Given the description of an element on the screen output the (x, y) to click on. 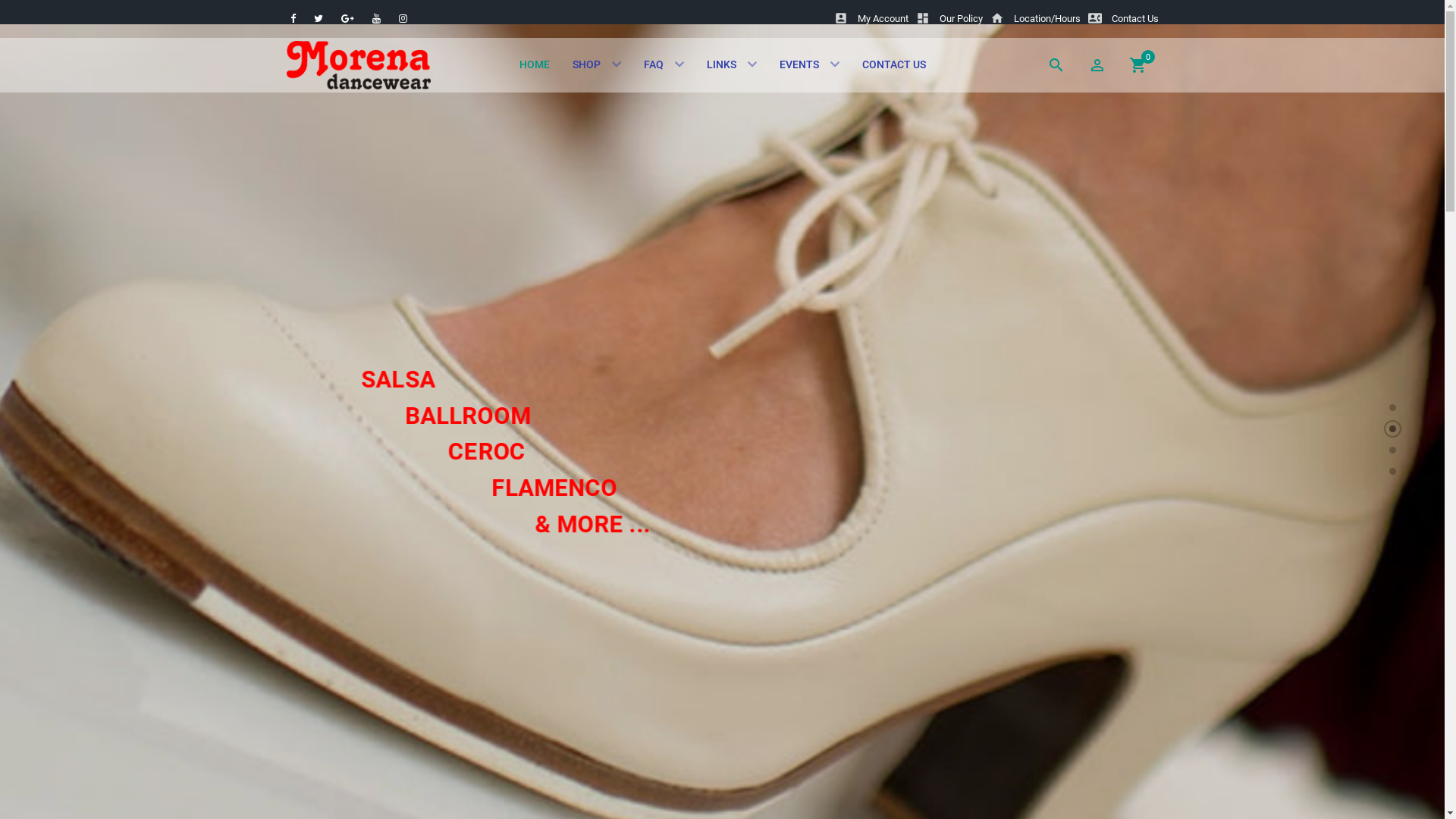
HOME Element type: text (534, 63)
person_outline Element type: text (1096, 64)
search Element type: text (1055, 64)
Morena Dancewear logo image Element type: hover (358, 64)
Morena Dancewear On YouTube Element type: hover (377, 18)
shopping_cart
0 Element type: text (1137, 64)
homeLocation/Hours Element type: text (1035, 18)
contact_phoneContact Us Element type: text (1122, 18)
Morena Dancewear On Facebook Element type: hover (293, 18)
Review Morena Dancewear On Google Element type: hover (347, 18)
CONTACT US Element type: text (893, 63)
dashboardOur Policy Element type: text (949, 18)
account_boxMy Account Element type: text (871, 18)
Morena Dancewear On Twitter Element type: hover (318, 18)
Check Us on Instagram Element type: hover (402, 18)
